Given the description of an element on the screen output the (x, y) to click on. 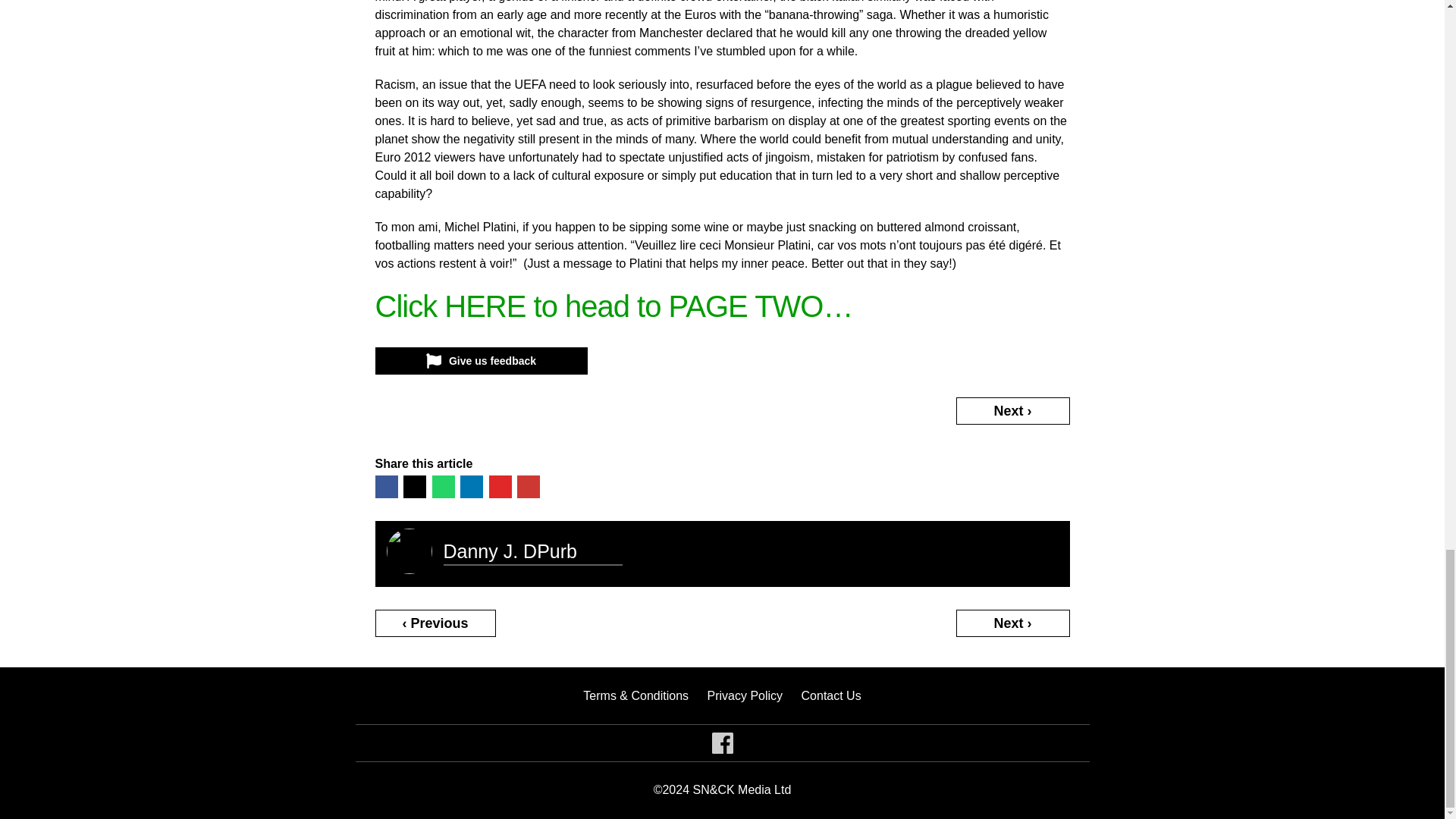
Give us feedback (480, 360)
share on Facebook (385, 486)
share on LinkedIn (471, 486)
share on Email (528, 486)
share on Twitter (414, 486)
share on WhatsApp (443, 486)
share on Flipboard (499, 486)
Danny J. DPurb (509, 550)
